Given the description of an element on the screen output the (x, y) to click on. 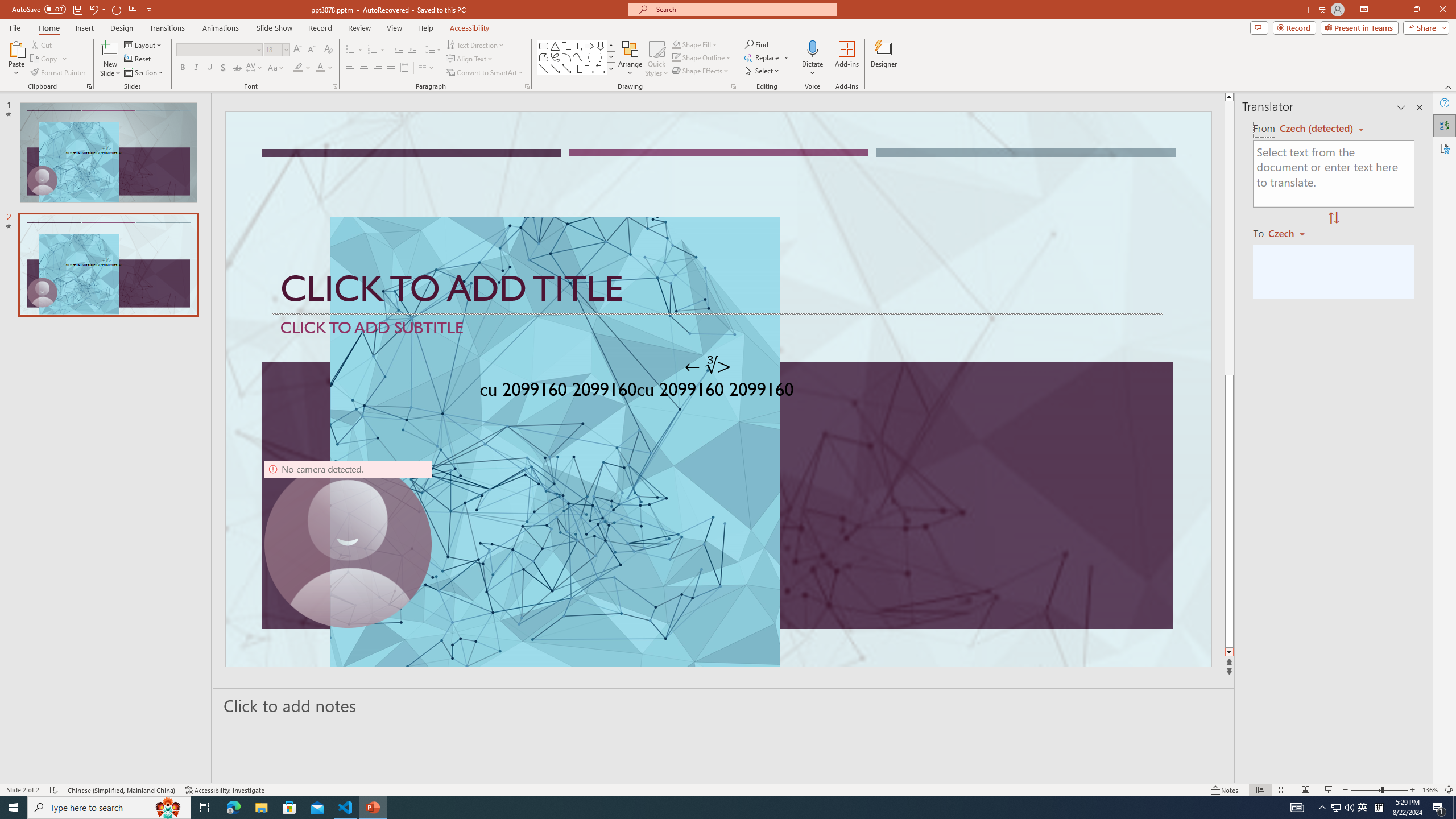
TextBox 61 (716, 391)
Camera 9, No camera detected. (347, 543)
